Given the description of an element on the screen output the (x, y) to click on. 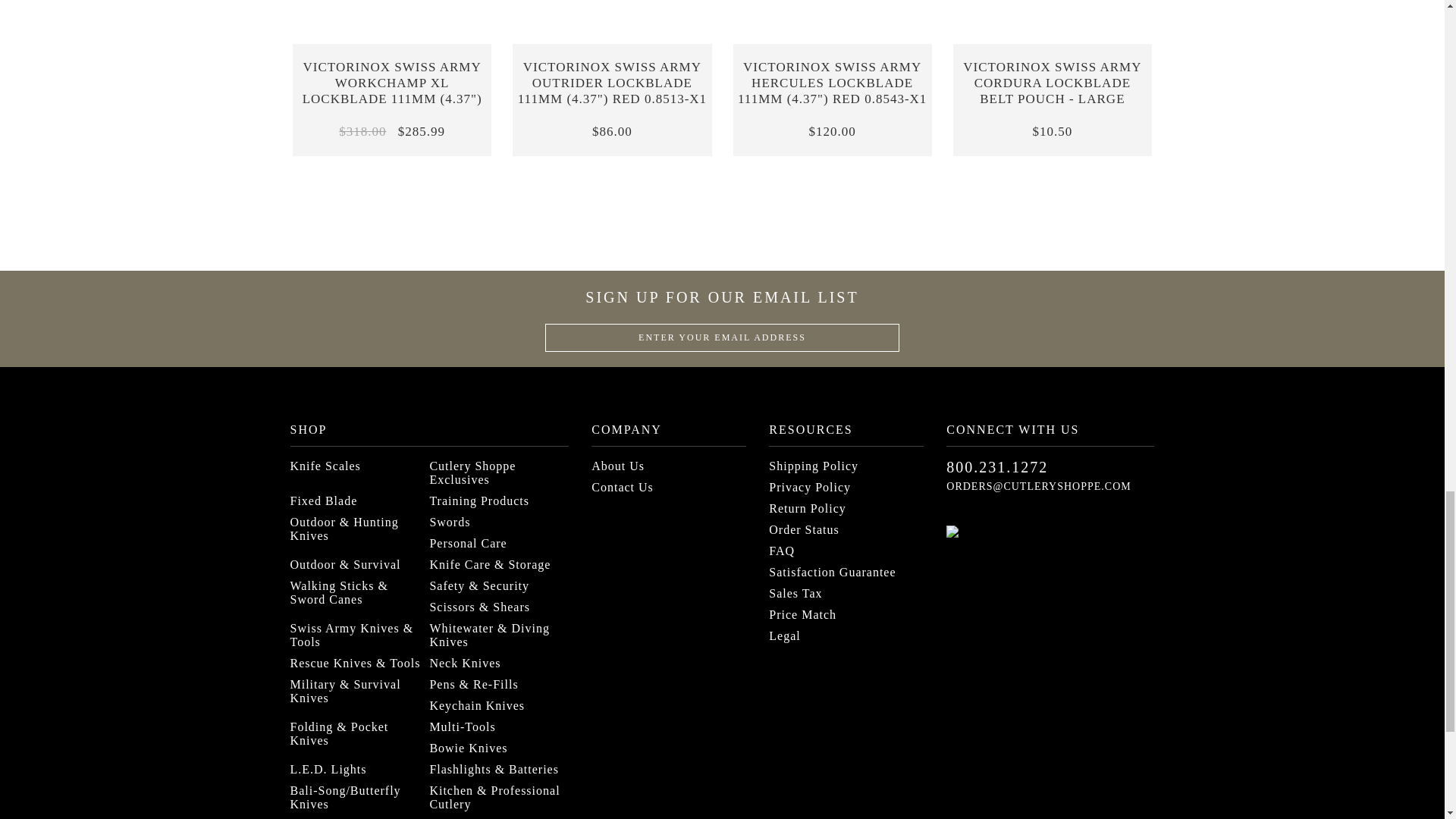
enter your email address (721, 337)
